Given the description of an element on the screen output the (x, y) to click on. 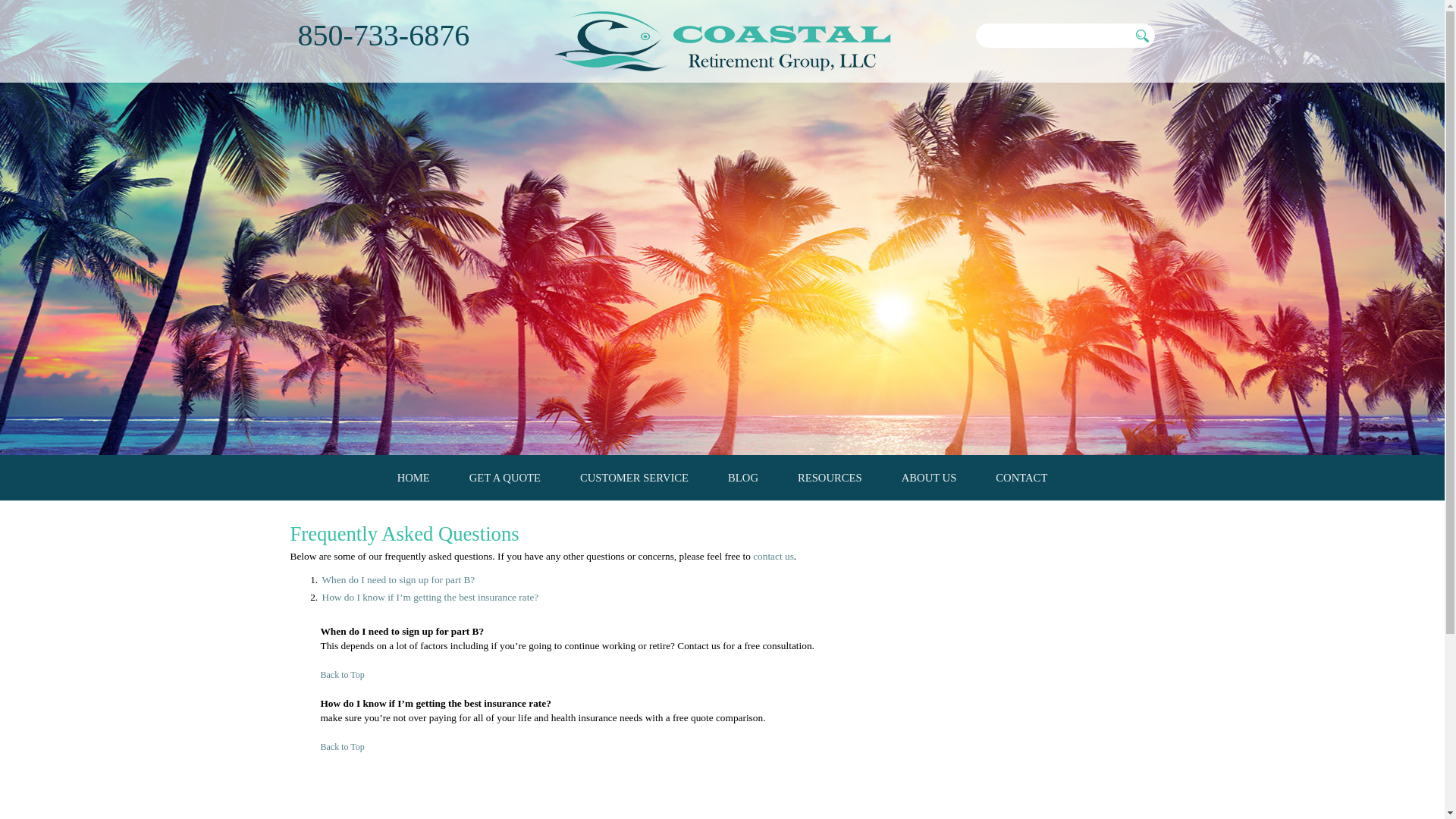
GET A QUOTE (504, 477)
HOME (413, 477)
850-733-6876 (382, 35)
